Given the description of an element on the screen output the (x, y) to click on. 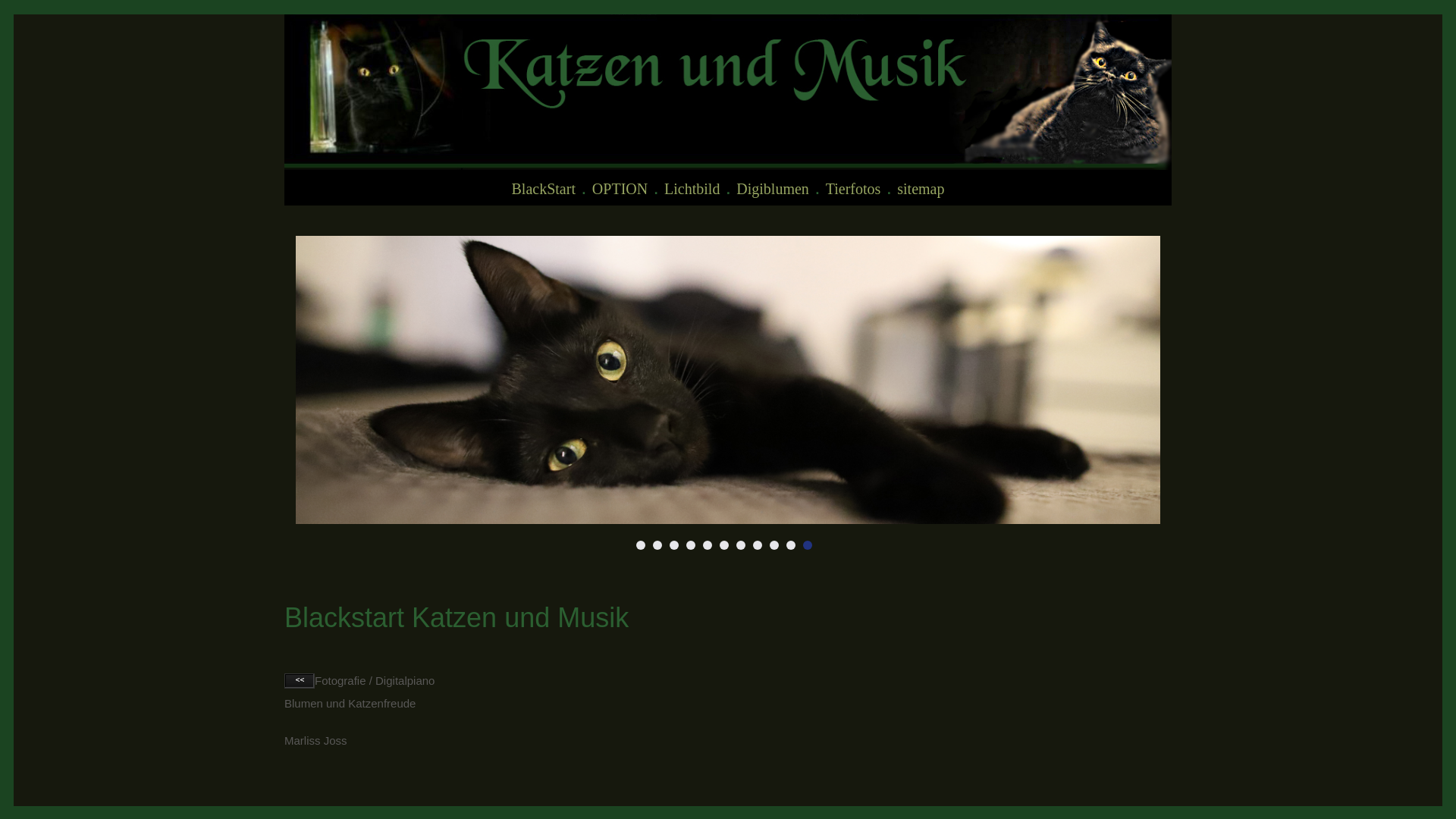
Digiblumen Element type: text (772, 188)
4 Element type: text (690, 544)
5 Element type: text (707, 544)
8 Element type: text (757, 544)
6 Element type: text (723, 544)
9 Element type: text (773, 544)
11 Element type: text (807, 544)
Tierfotos Element type: text (853, 188)
7 Element type: text (740, 544)
2 Element type: text (657, 544)
BlackStart Element type: text (543, 188)
sitemap Element type: text (920, 188)
3 Element type: text (673, 544)
Lichtbild Element type: text (691, 188)
1 Element type: text (640, 544)
OPTION Element type: text (619, 188)
10 Element type: text (790, 544)
